Given the description of an element on the screen output the (x, y) to click on. 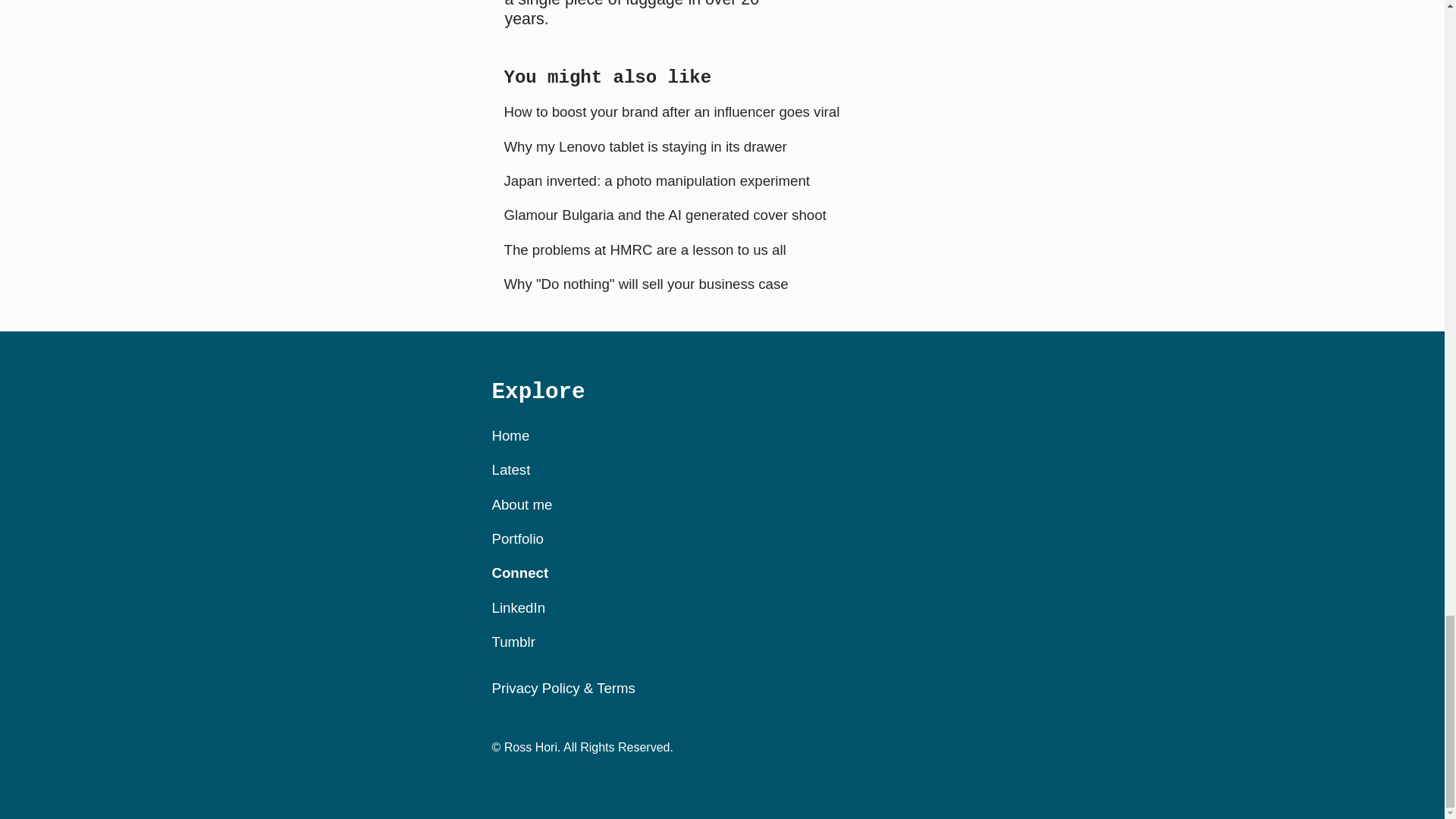
How to boost your brand after an influencer goes viral (671, 111)
The problems at HMRC are a lesson to us all (644, 249)
Tumblr (513, 641)
About me (521, 504)
Japan inverted: a photo manipulation experiment (656, 180)
Latest (510, 469)
Glamour Bulgaria and the AI generated cover shoot (664, 214)
Why my Lenovo tablet is staying in its drawer (644, 146)
Why "Do nothing" will sell your business case (645, 283)
Portfolio (517, 538)
LinkedIn (518, 607)
Home (510, 435)
